Given the description of an element on the screen output the (x, y) to click on. 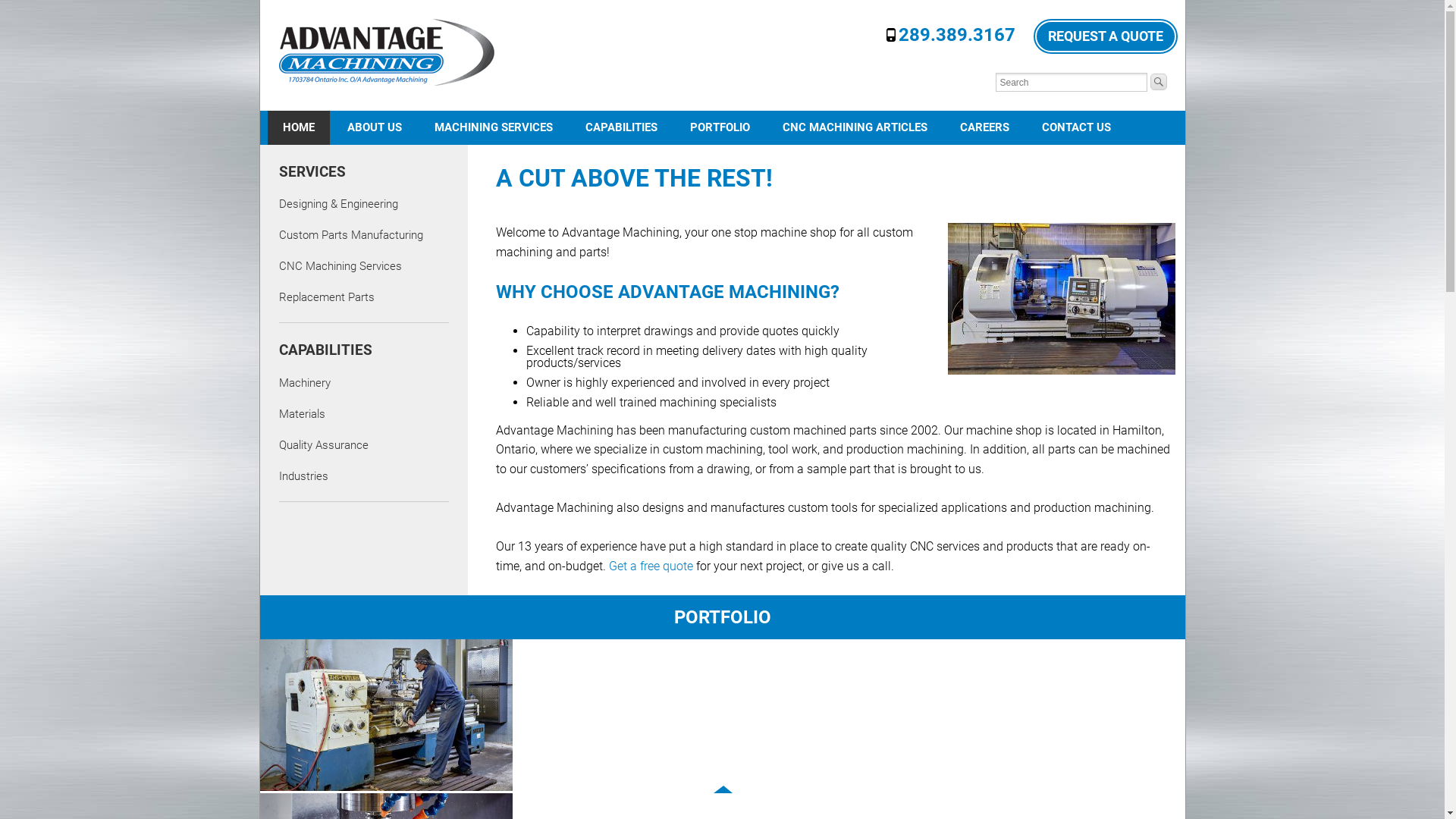
ABOUT US Element type: text (374, 127)
Get a free quote Element type: text (650, 565)
CAPABILITIES Element type: text (621, 127)
289.389.3167 Element type: text (955, 34)
Materials Element type: text (302, 413)
Custom Parts Manufacturing Element type: text (351, 234)
Designing & Engineering Element type: text (338, 203)
CONTACT US Element type: text (1076, 127)
Industries Element type: text (303, 476)
CNC Machining Services Element type: text (340, 266)
CNC MACHINING ARTICLES Element type: text (854, 127)
PORTFOLIO Element type: text (719, 127)
Replacement Parts Element type: text (326, 297)
Quality Assurance Element type: text (323, 444)
CAREERS Element type: text (984, 127)
REQUEST A QUOTE Element type: text (1104, 36)
MACHINING SERVICES Element type: text (492, 127)
Machinery Element type: text (304, 382)
HOME Element type: text (297, 127)
